Given the description of an element on the screen output the (x, y) to click on. 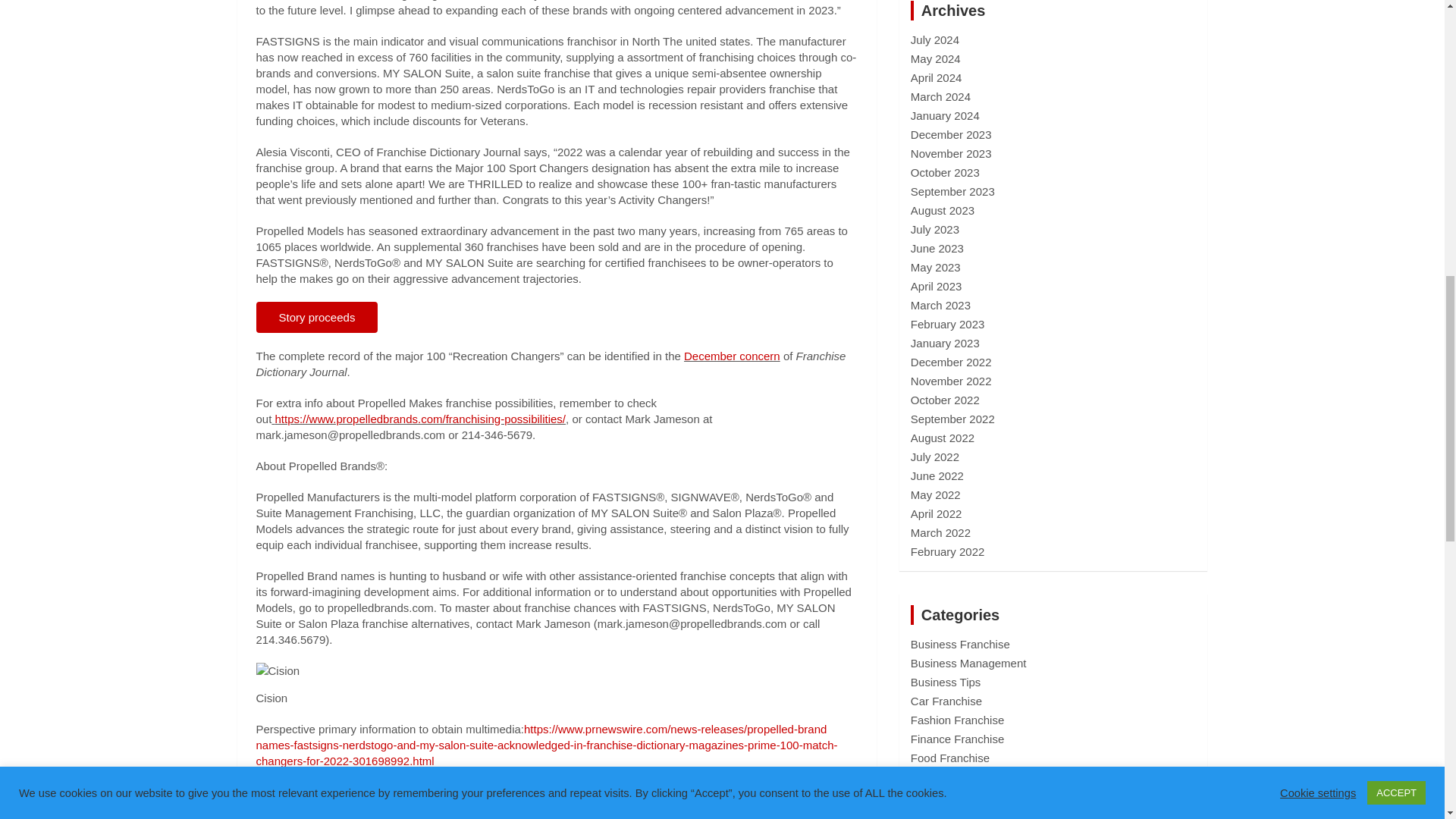
NerdsToGo (666, 816)
Changers (346, 816)
Dictionary (398, 816)
Brands (300, 816)
Franchise (517, 816)
Game (561, 816)
Story proceeds (317, 317)
December concern (732, 355)
FASTSIGNS (459, 816)
Propelled (720, 816)
Magazines (606, 816)
Recognized (777, 816)
